Given the description of an element on the screen output the (x, y) to click on. 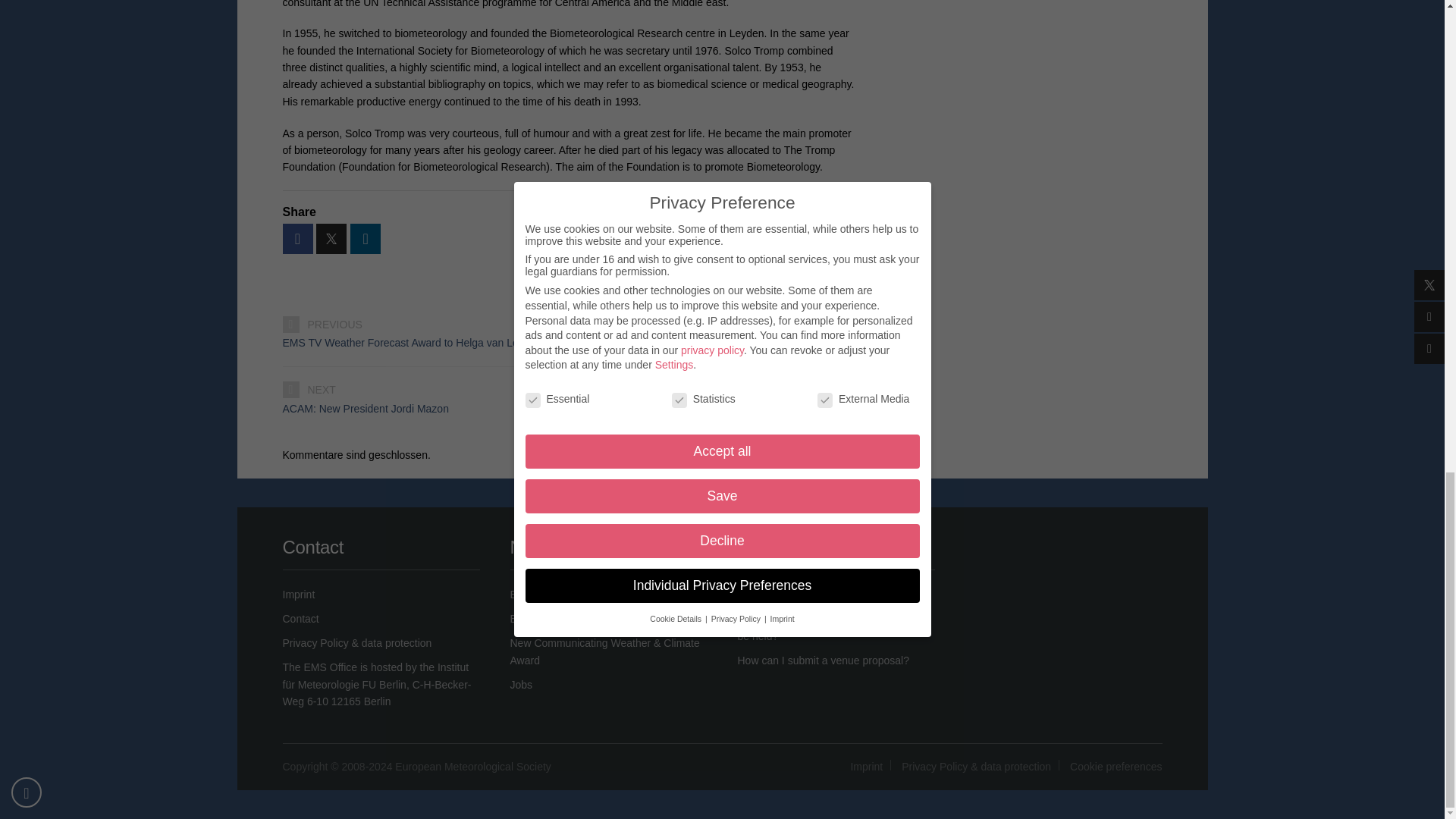
ACAM: New President Jordi Mazon (570, 408)
